Given the description of an element on the screen output the (x, y) to click on. 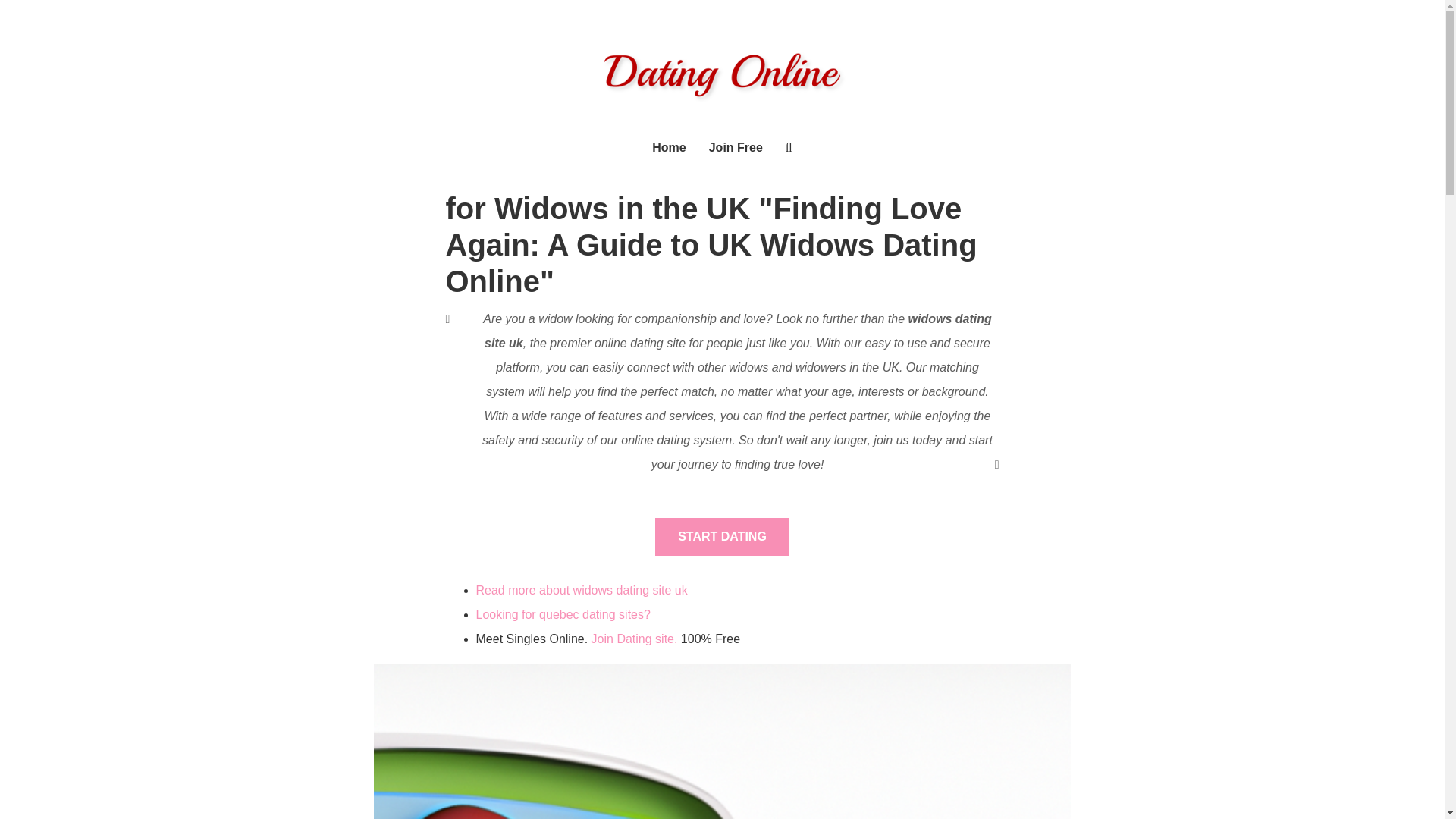
widows dating site uk (803, 746)
START DATING (722, 536)
Home (668, 158)
Join Free (735, 158)
Read more about widows dating site uk (581, 590)
Join Dating site. (634, 638)
Looking for quebec dating sites? (563, 614)
